Given the description of an element on the screen output the (x, y) to click on. 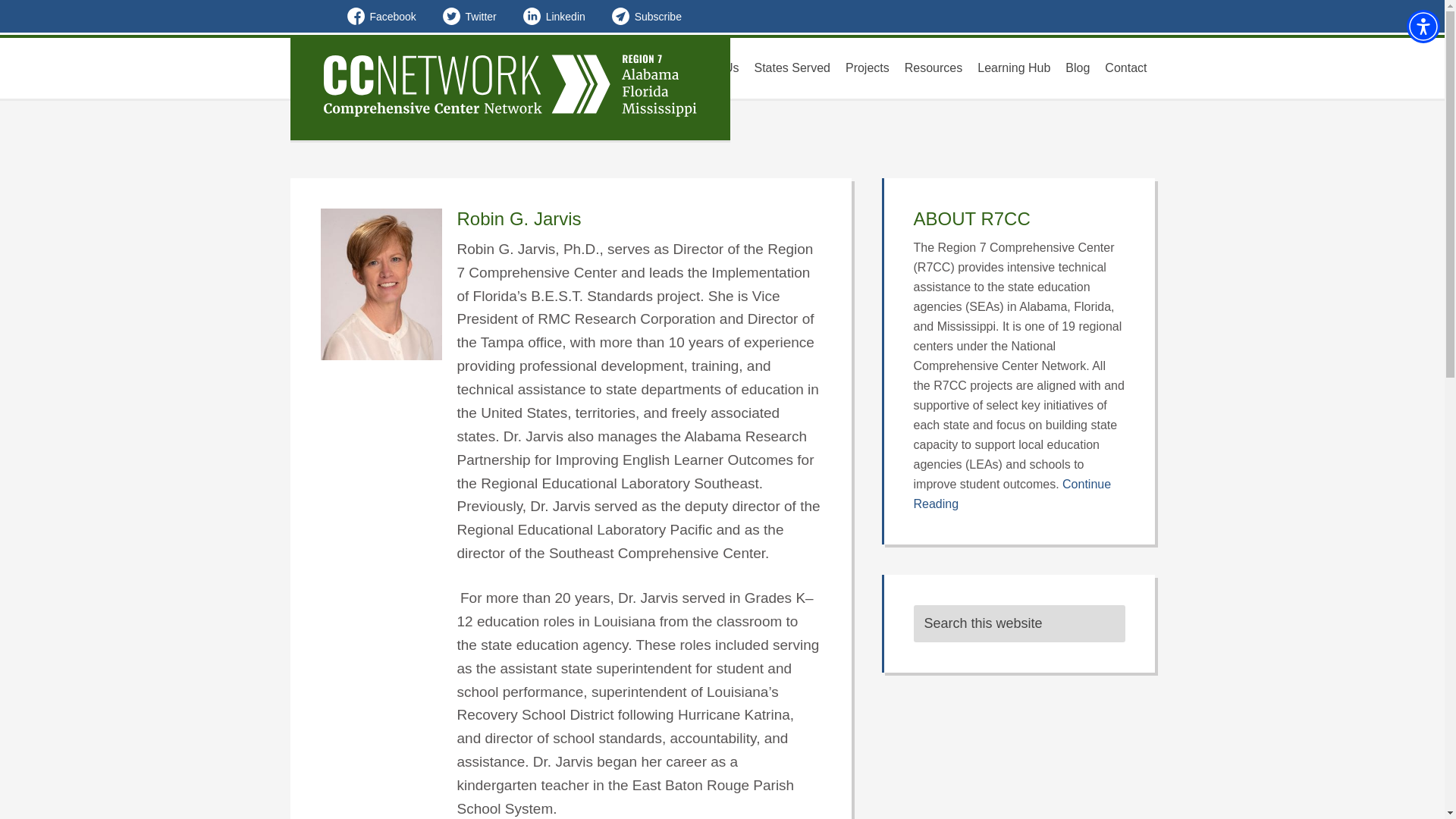
Projects (867, 67)
Subscribe (646, 16)
Facebook (381, 16)
Resources (932, 67)
Linkedin (553, 16)
States Served (791, 67)
Learning Hub (1013, 67)
Contact (1125, 67)
Accessibility Menu (1422, 26)
About Us (713, 67)
Twitter (469, 16)
Robin G. Jarvis (518, 218)
